Given the description of an element on the screen output the (x, y) to click on. 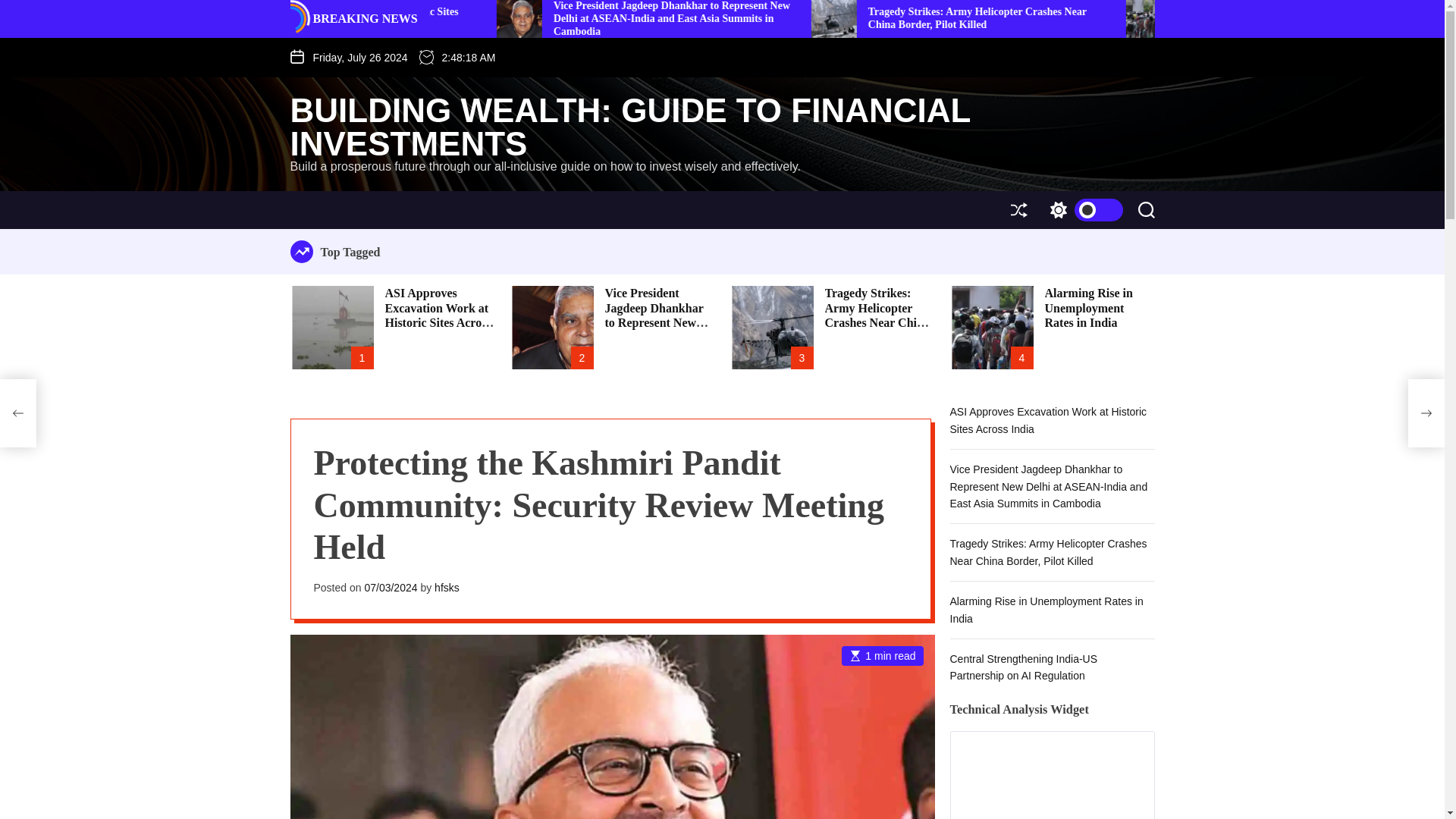
ASI Approves Excavation Work at Historic Sites Across India (596, 17)
technical analysis TradingView widget (1051, 775)
BUILDING WEALTH: GUIDE TO FINANCIAL INVESTMENTS (706, 127)
